Given the description of an element on the screen output the (x, y) to click on. 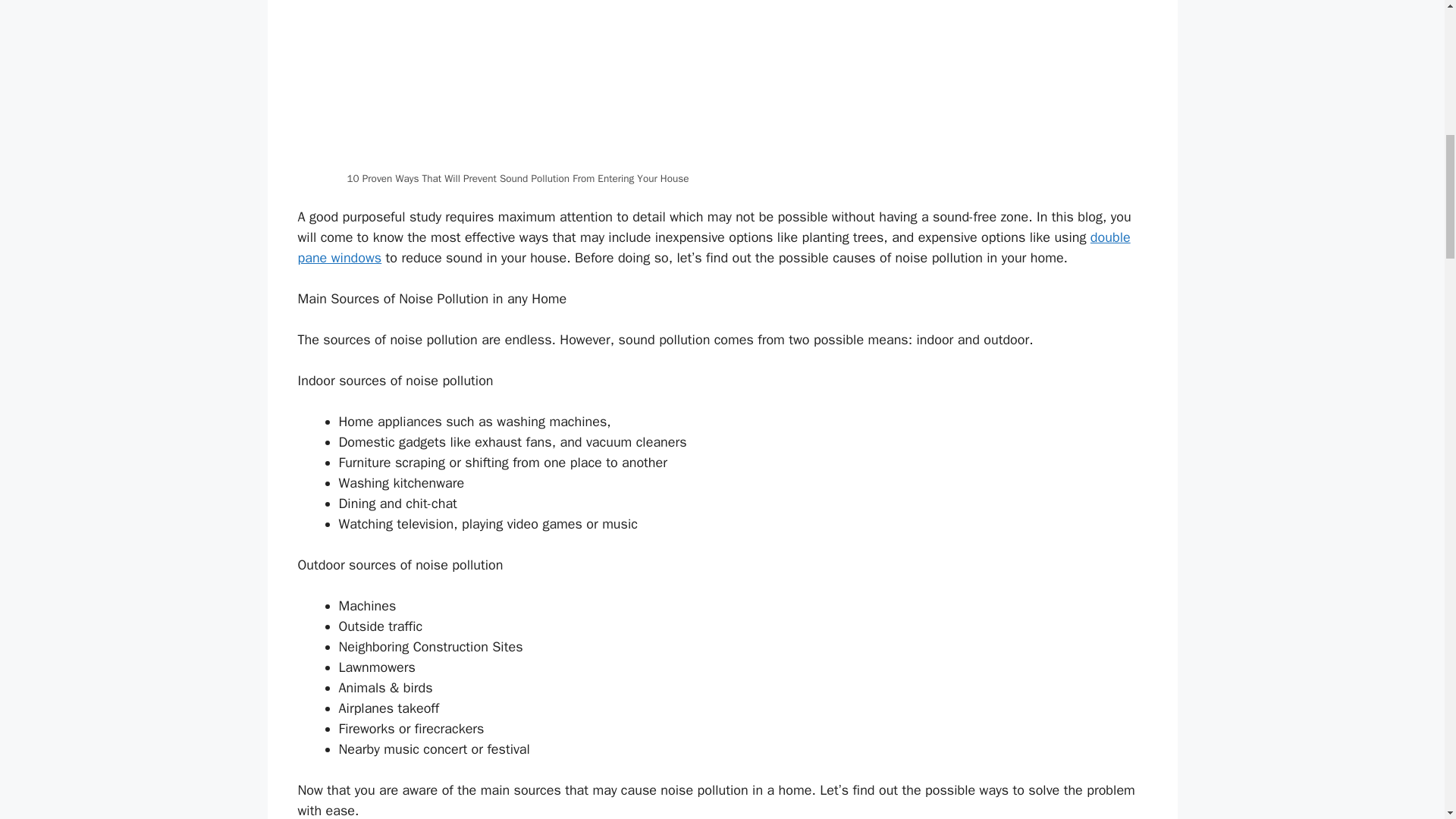
double pane windows (713, 247)
